Given the description of an element on the screen output the (x, y) to click on. 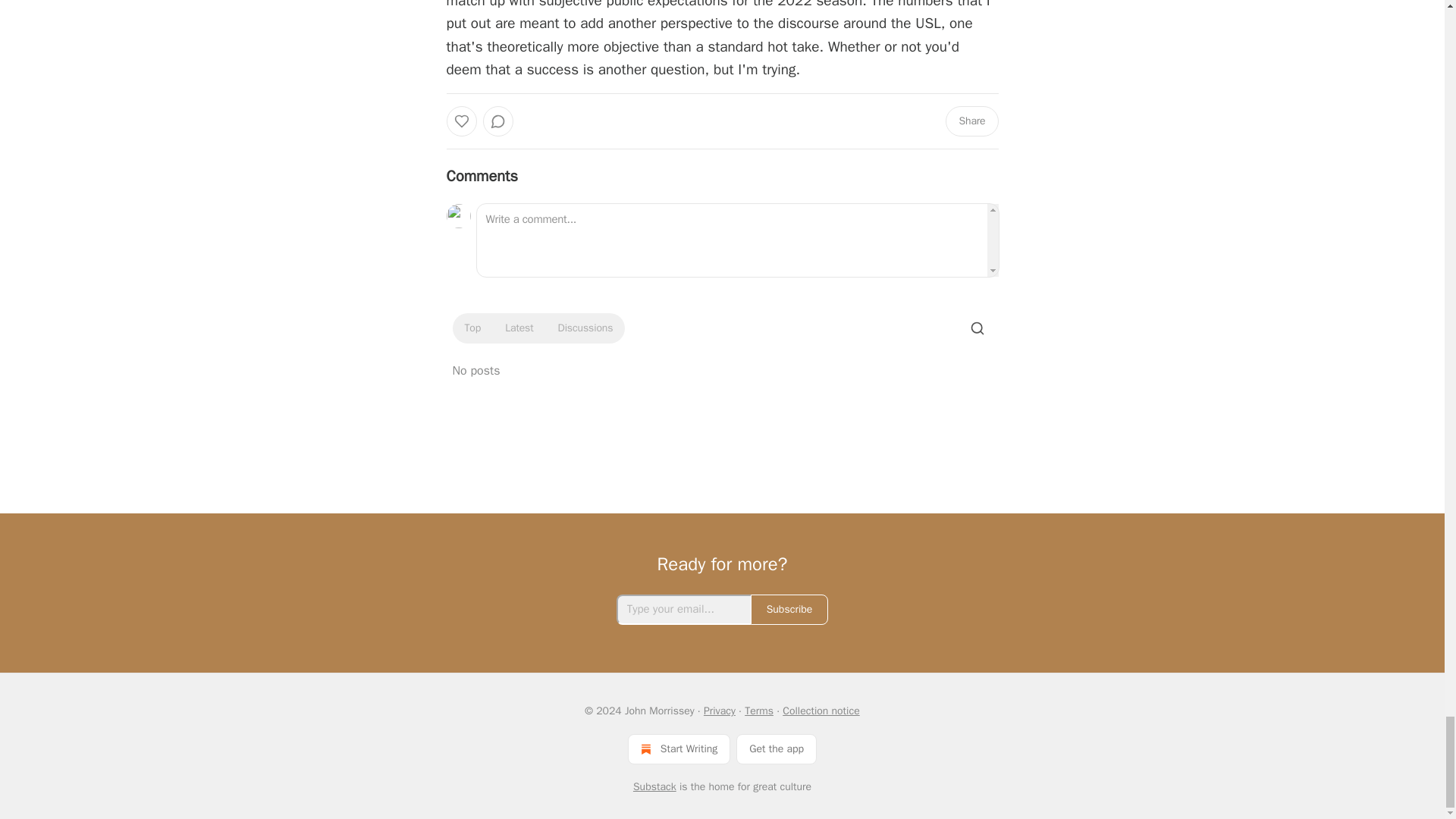
Share (970, 121)
Top (471, 328)
Latest (518, 328)
